Given the description of an element on the screen output the (x, y) to click on. 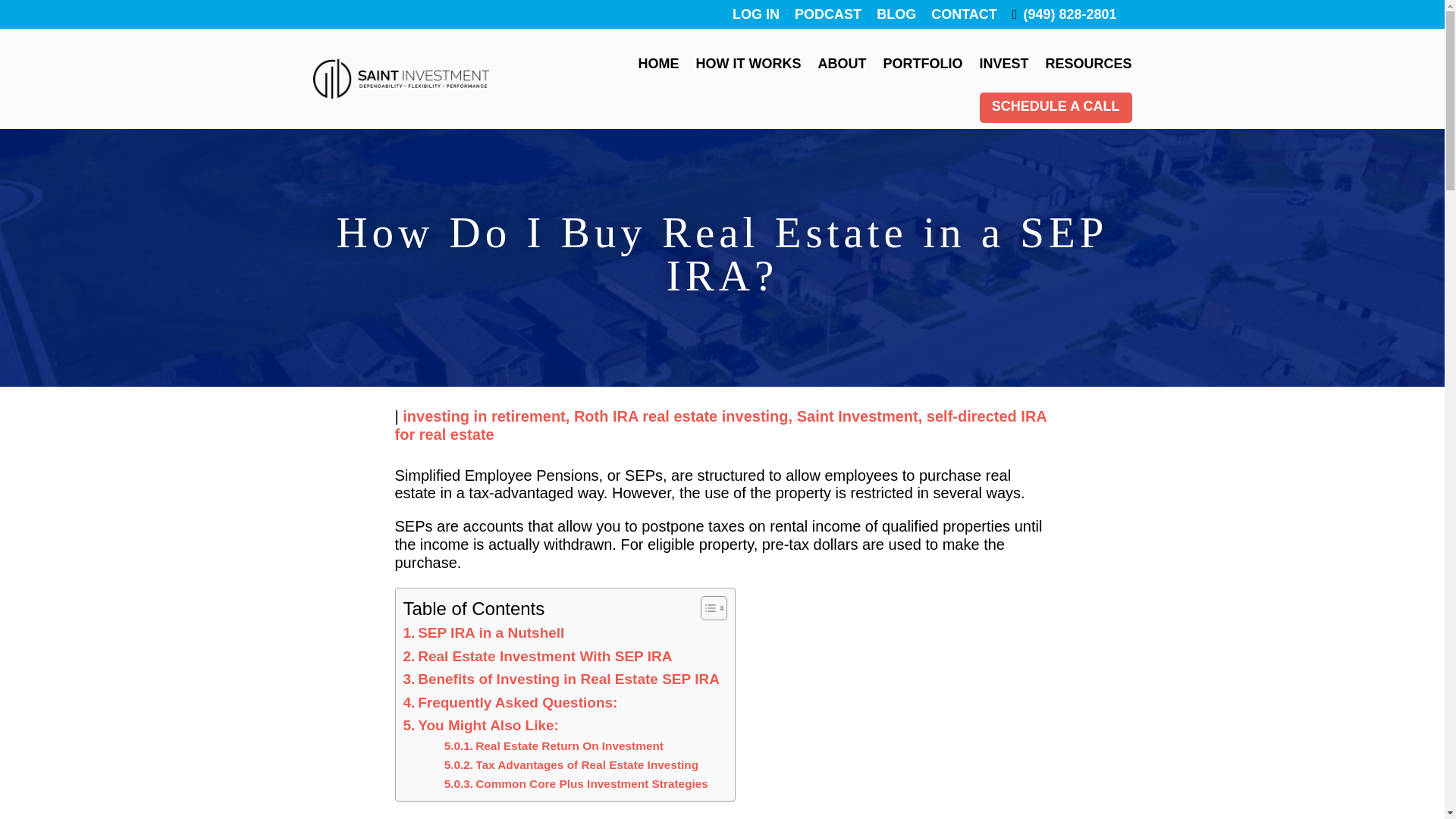
self-directed IRA for real estate (720, 425)
SEP IRA in a Nutshell (483, 632)
Real Estate Investment With SEP IRA (537, 656)
SCHEDULE A CALL (1055, 107)
Real Estate Return On Investment (553, 746)
Tax Advantages of Real Estate Investing (571, 764)
BLOG (895, 14)
You Might Also Like: (481, 725)
LOG IN (755, 14)
SEP IRA in a Nutshell (483, 632)
Frequently Asked Questions: (510, 702)
Common Core Plus Investment Strategies (575, 783)
PORTFOLIO (922, 63)
Benefits of Investing in Real Estate SEP IRA (561, 679)
PODCAST (827, 14)
